Given the description of an element on the screen output the (x, y) to click on. 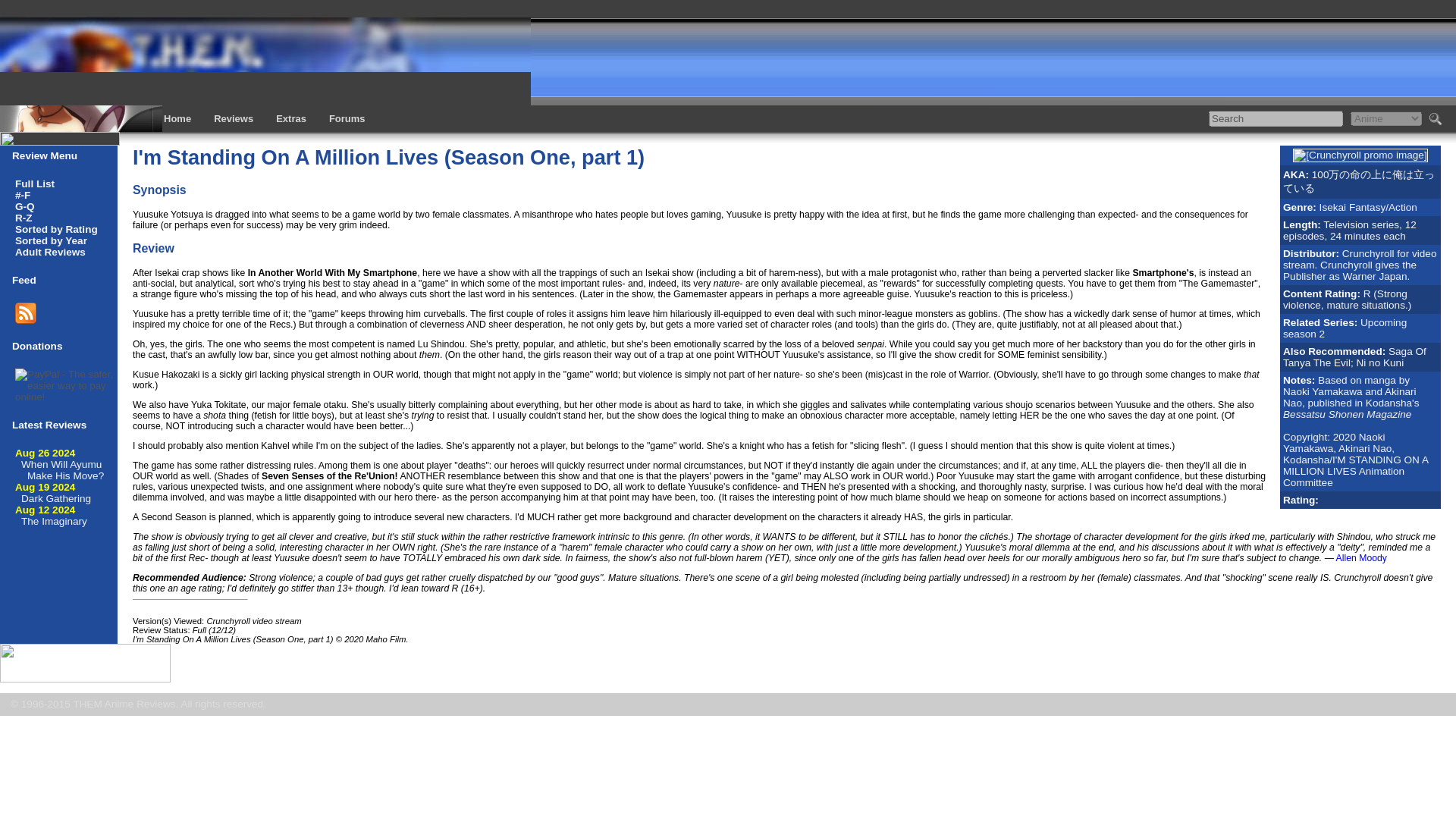
Search (1275, 118)
Adult Reviews (49, 251)
Search (1275, 118)
Allen Moody (1361, 557)
Sorted by Rating (55, 229)
Sorted by Year (50, 240)
The Imaginary (54, 521)
When Will Ayumu Make His Move? (62, 469)
G-Q (24, 206)
Forums (347, 118)
